Given the description of an element on the screen output the (x, y) to click on. 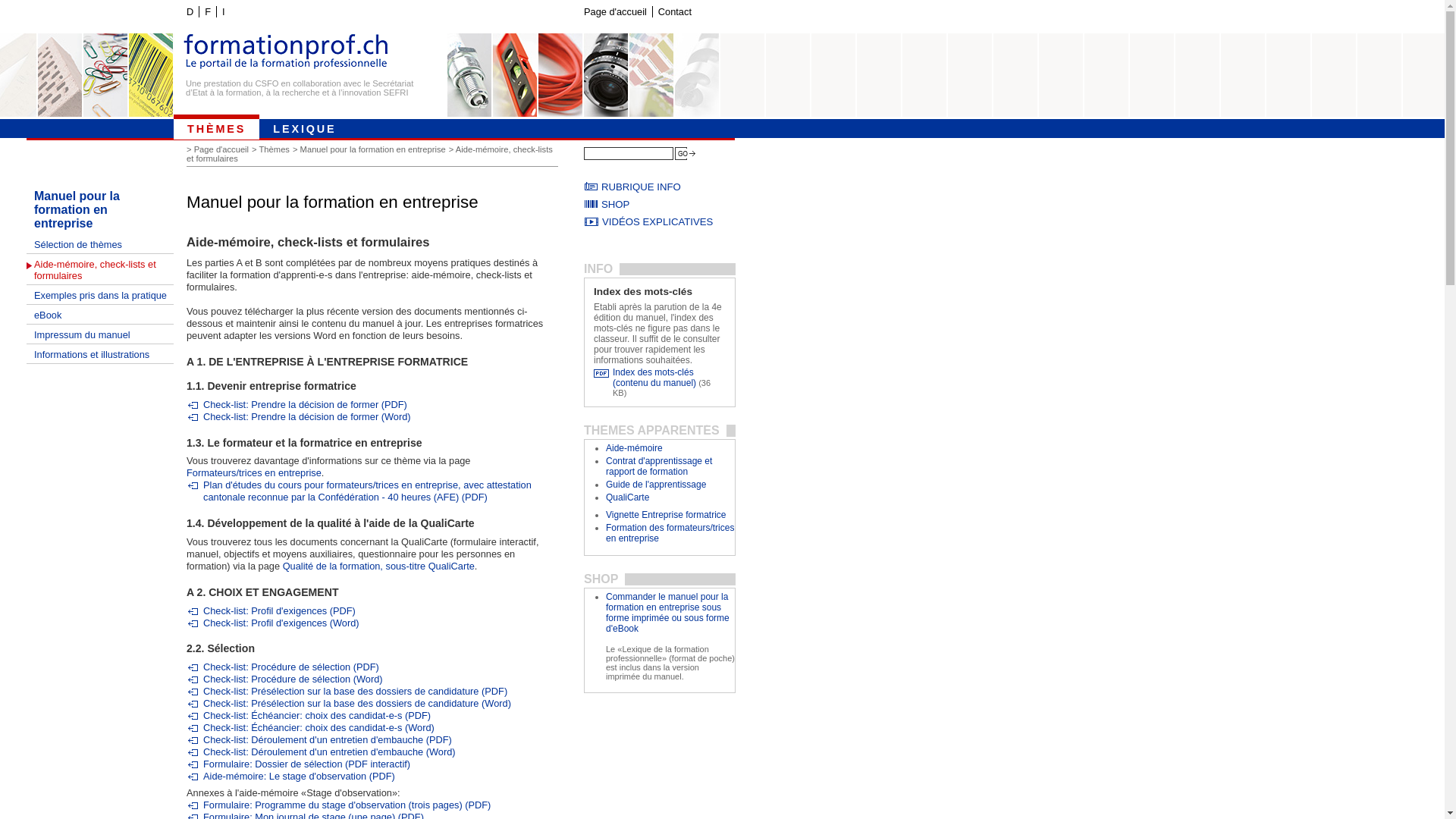
LEXIQUE Element type: text (304, 126)
Manuel pour la formation en entreprise Element type: text (374, 148)
I Element type: text (223, 11)
Page d'accueil Element type: text (222, 148)
Check-list: Profil d'exigences (Word) Element type: text (272, 623)
QualiCarte Element type: text (627, 497)
Contrat d'apprentissage et rapport de formation Element type: text (658, 465)
Contact Element type: text (674, 11)
Impressum du manuel Element type: text (99, 334)
Guide de l'apprentissage Element type: text (655, 484)
SHOP Element type: text (659, 204)
eBook Element type: text (99, 314)
Vignette Entreprise formatrice Element type: text (665, 514)
F Element type: text (207, 11)
Formateurs/trices en entreprise Element type: text (253, 472)
Formation des formateurs/trices en entreprise Element type: text (669, 532)
Exemples pris dans la pratique Element type: text (99, 294)
RUBRIQUE INFO Element type: text (659, 186)
Page d'accueil Element type: text (614, 11)
D Element type: text (189, 11)
Check-list: Profil d'exigences (PDF) Element type: text (270, 611)
Informations et illustrations Element type: text (99, 354)
Manuel pour la formation en entreprise Element type: text (99, 209)
